Given the description of an element on the screen output the (x, y) to click on. 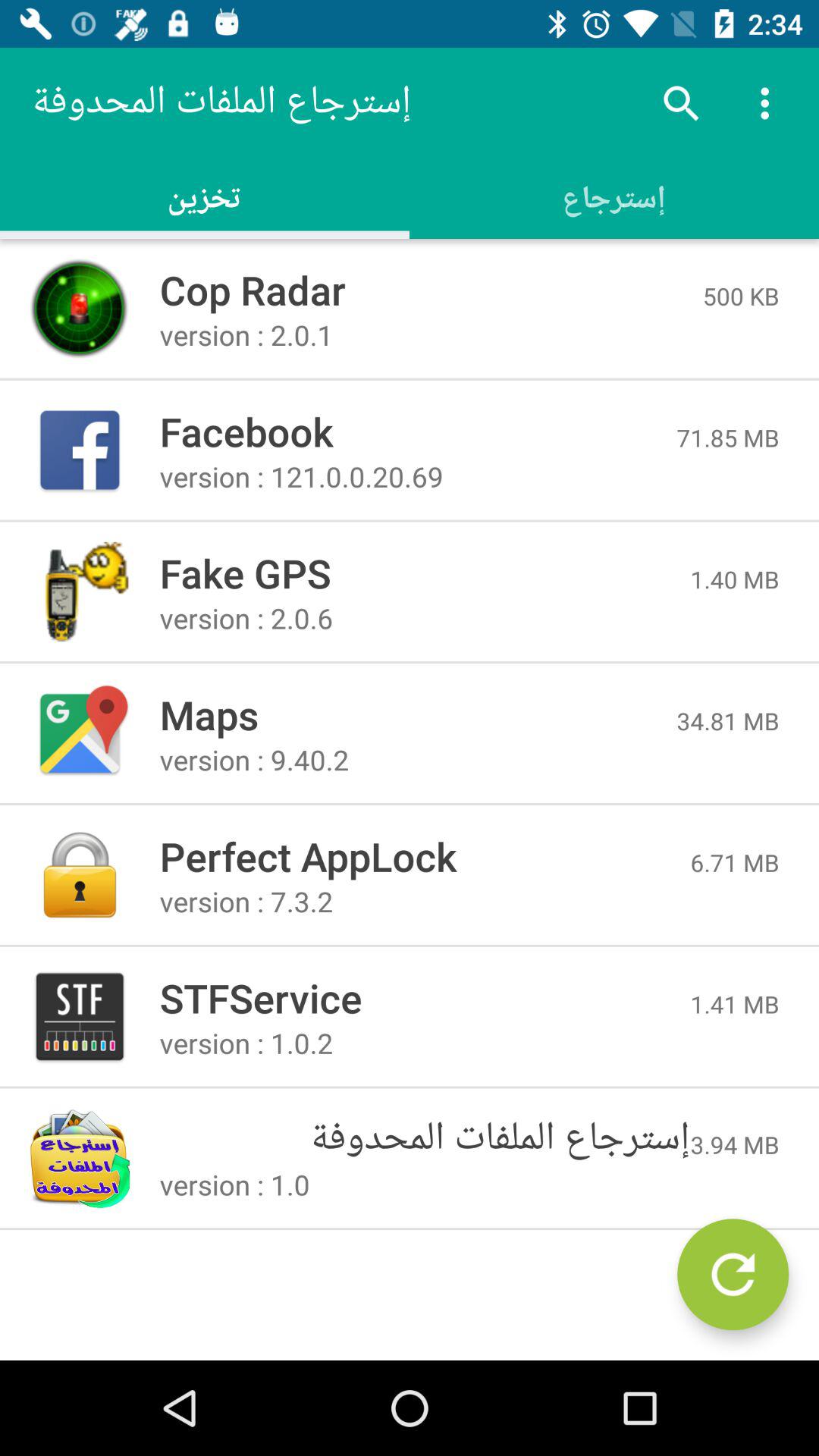
tap the item next to the 500 kb (430, 289)
